Given the description of an element on the screen output the (x, y) to click on. 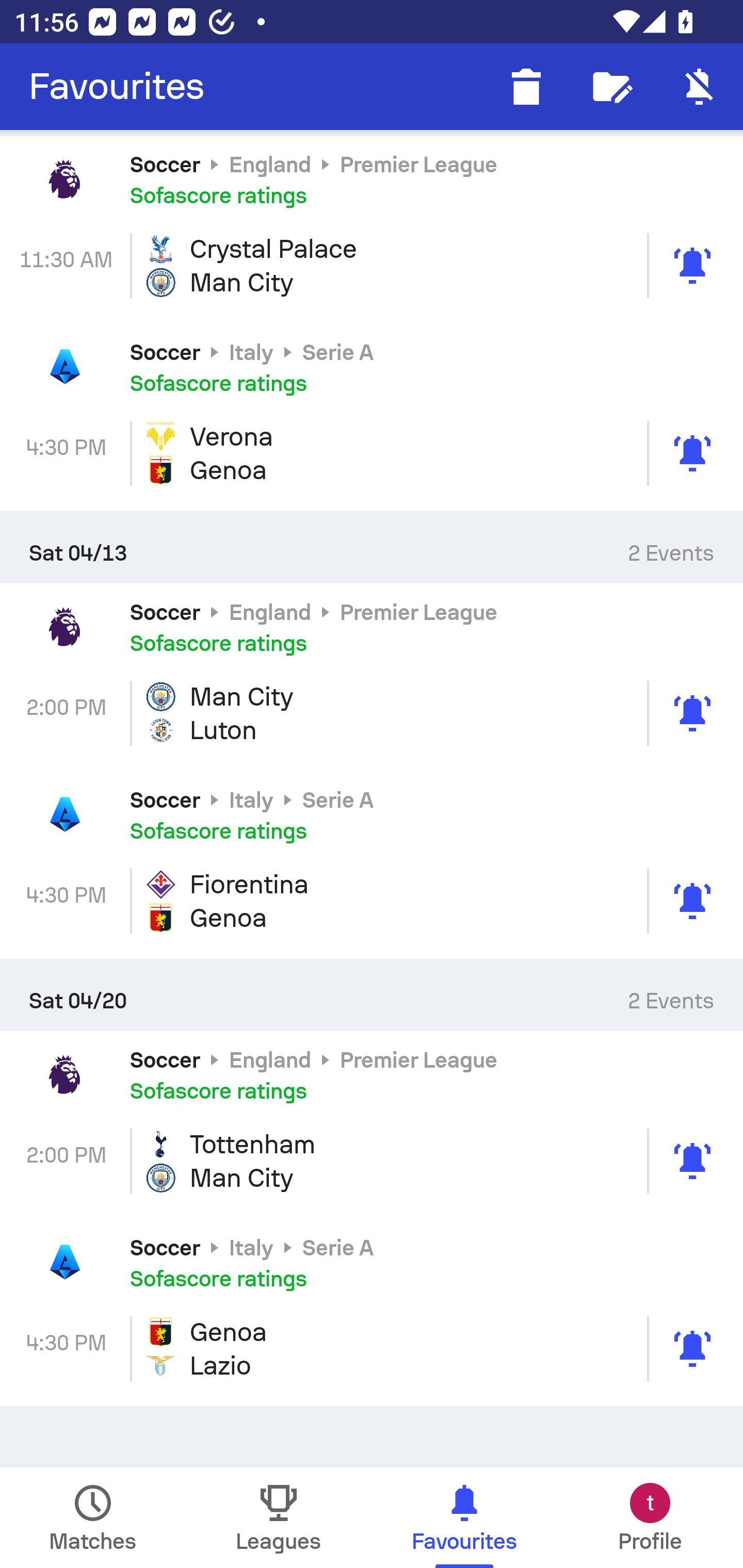
Favourites (116, 86)
Delete finished (525, 86)
Follow editor (612, 86)
Enable notifications (699, 86)
Soccer England Premier League Sofascore ratings (371, 179)
11:30 AM Crystal Palace Man City (371, 265)
Soccer Italy Serie A Sofascore ratings (371, 366)
4:30 PM Verona Genoa (371, 453)
Sat 04/13 2 Events (371, 547)
Soccer England Premier League Sofascore ratings (371, 626)
2:00 PM Man City Luton (371, 713)
Soccer Italy Serie A Sofascore ratings (371, 814)
4:30 PM Fiorentina Genoa (371, 900)
Sat 04/20 2 Events (371, 995)
Soccer England Premier League Sofascore ratings (371, 1074)
2:00 PM Tottenham  Man City (371, 1160)
Soccer Italy Serie A Sofascore ratings (371, 1262)
4:30 PM Genoa Lazio (371, 1349)
Matches (92, 1517)
Leagues (278, 1517)
Profile (650, 1517)
